Given the description of an element on the screen output the (x, y) to click on. 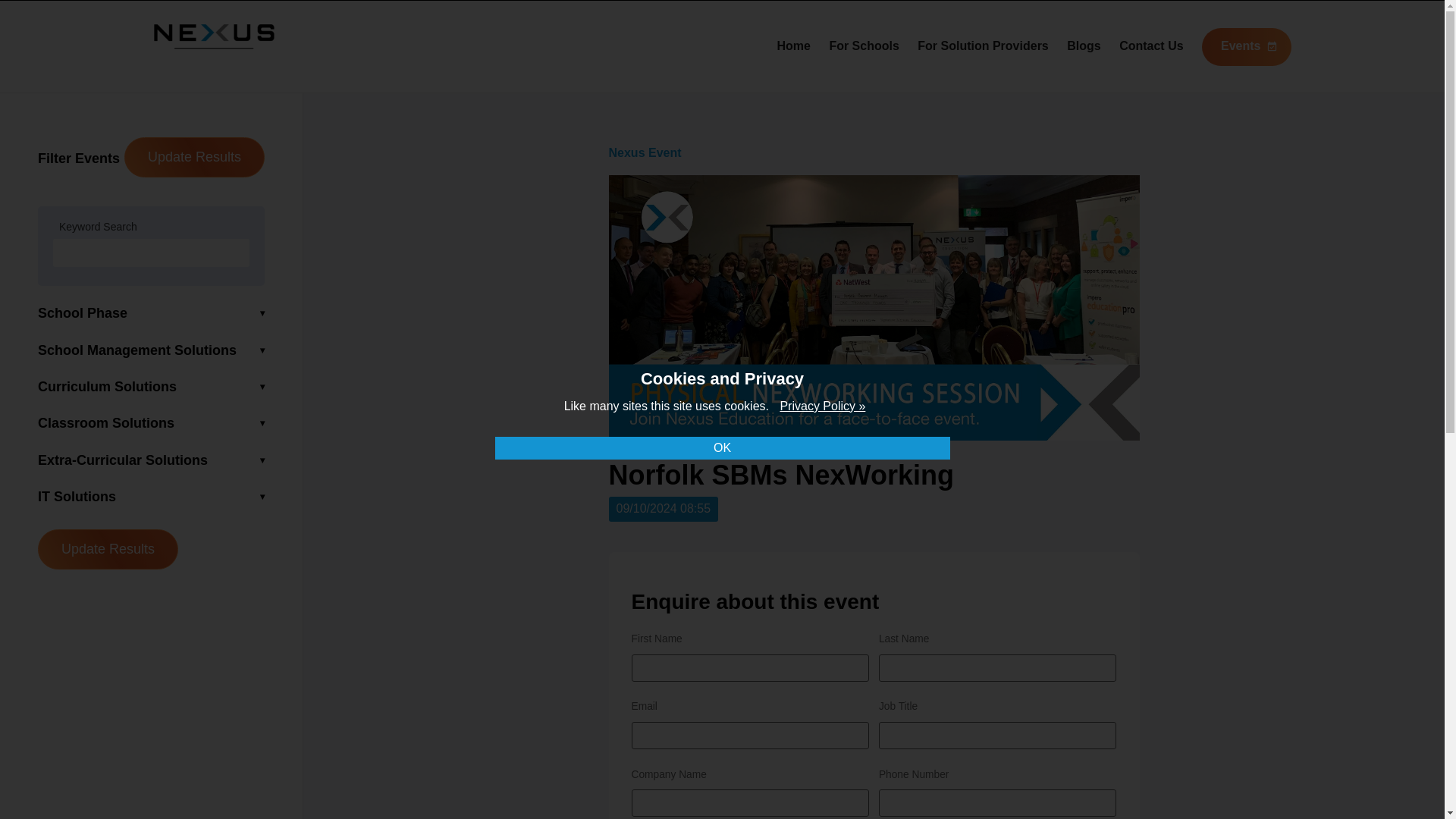
Home (792, 46)
Update Results (107, 549)
Blogs (1083, 46)
For Solution Providers (982, 46)
Contact Us (1151, 46)
For Schools (863, 46)
Events (1246, 46)
Nexus Education (213, 43)
Cookie Notice (821, 405)
Update Results (193, 157)
